Given the description of an element on the screen output the (x, y) to click on. 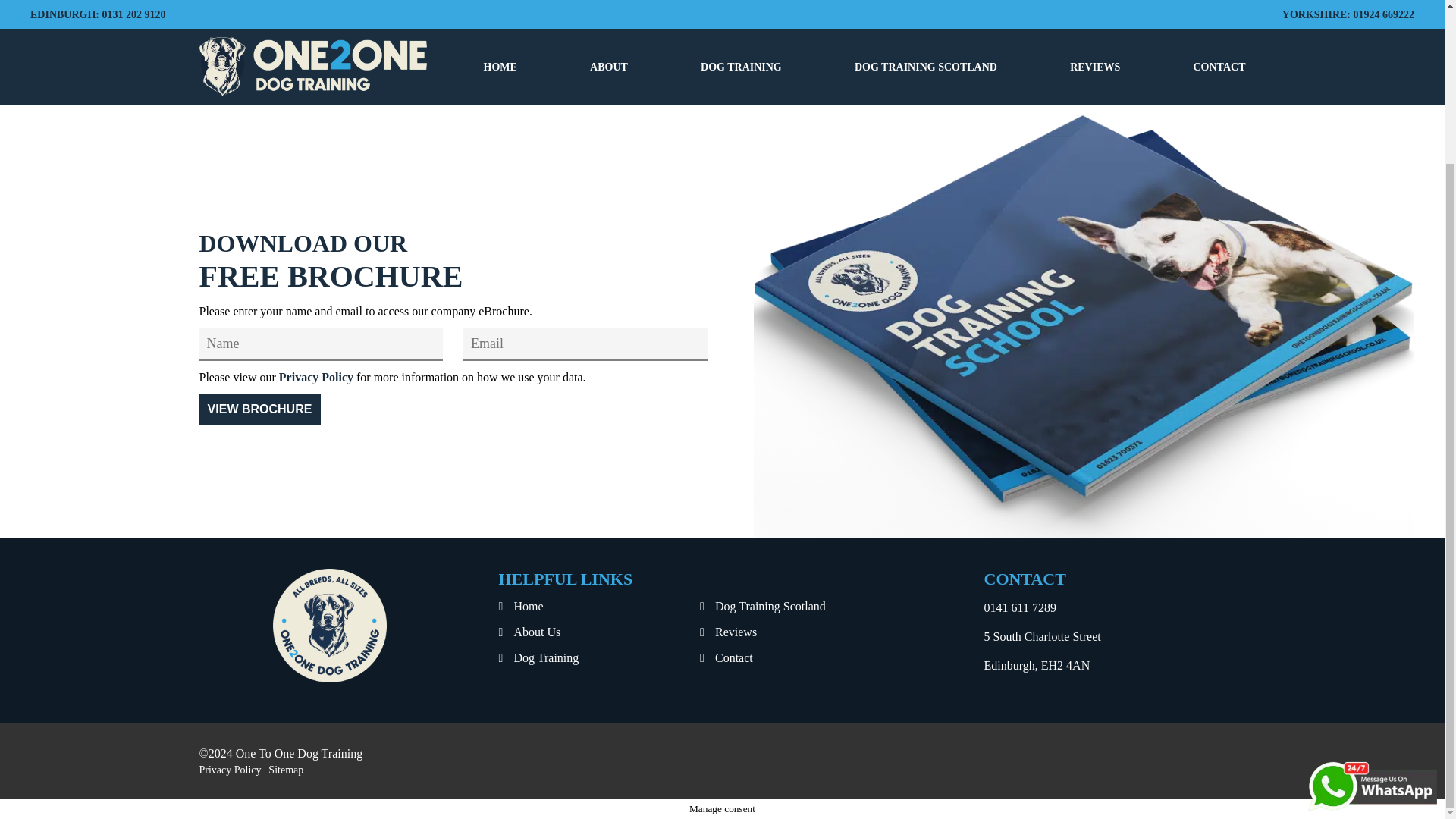
View Brochure (259, 409)
View Brochure (259, 409)
About Us (599, 632)
Reviews (800, 632)
Privacy Policy (316, 377)
Sitemap (284, 769)
Contact (800, 658)
Dog Training (599, 658)
Home (599, 606)
Privacy Policy (229, 769)
Dog Training Scotland (800, 606)
